Given the description of an element on the screen output the (x, y) to click on. 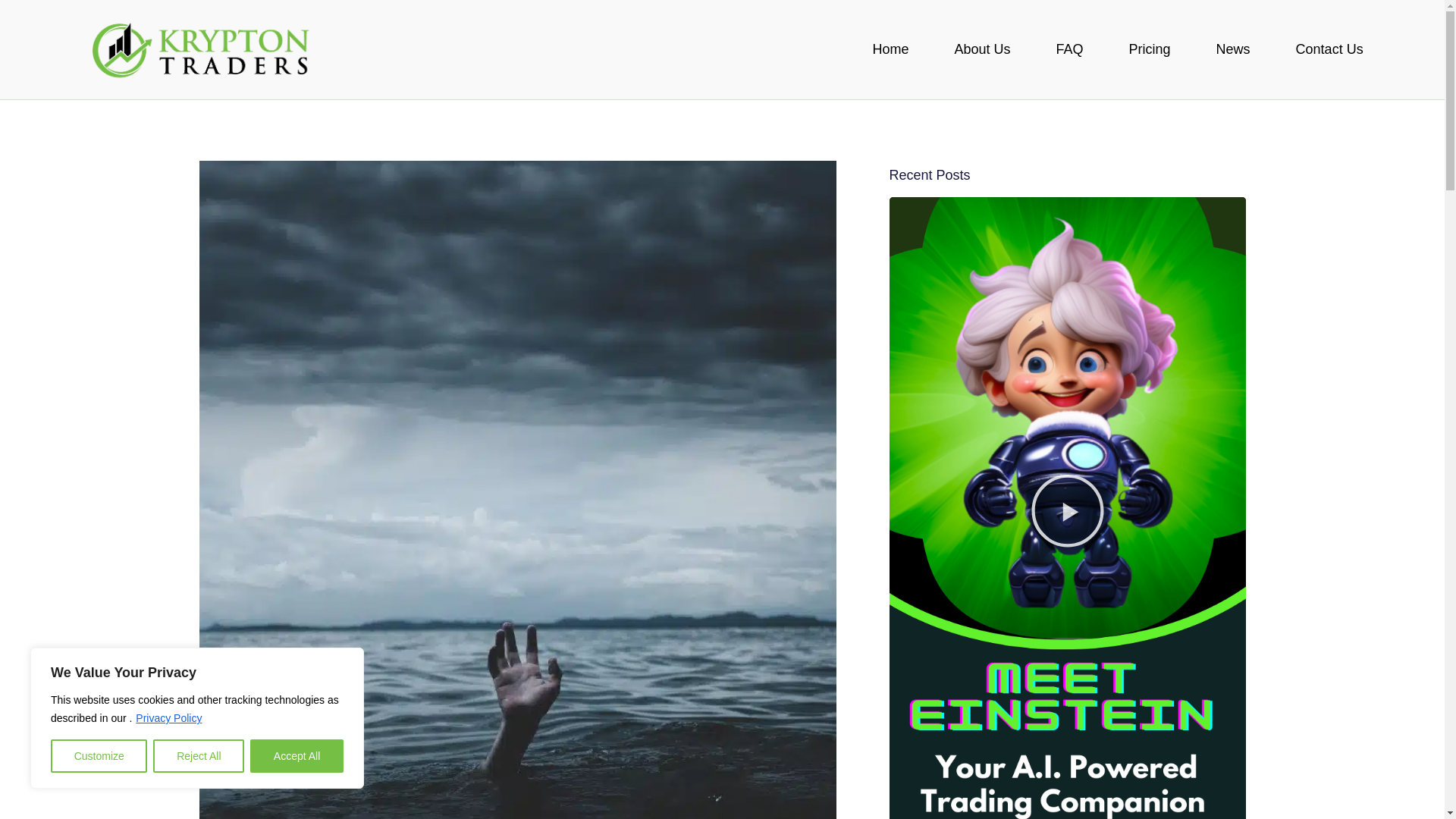
Privacy Policy (168, 717)
Accept All (296, 756)
Pricing (1149, 48)
Customize (98, 756)
FAQ (1069, 48)
Contact Us (1329, 48)
Reject All (198, 756)
News (1232, 48)
Home (889, 48)
About Us (981, 48)
